Given the description of an element on the screen output the (x, y) to click on. 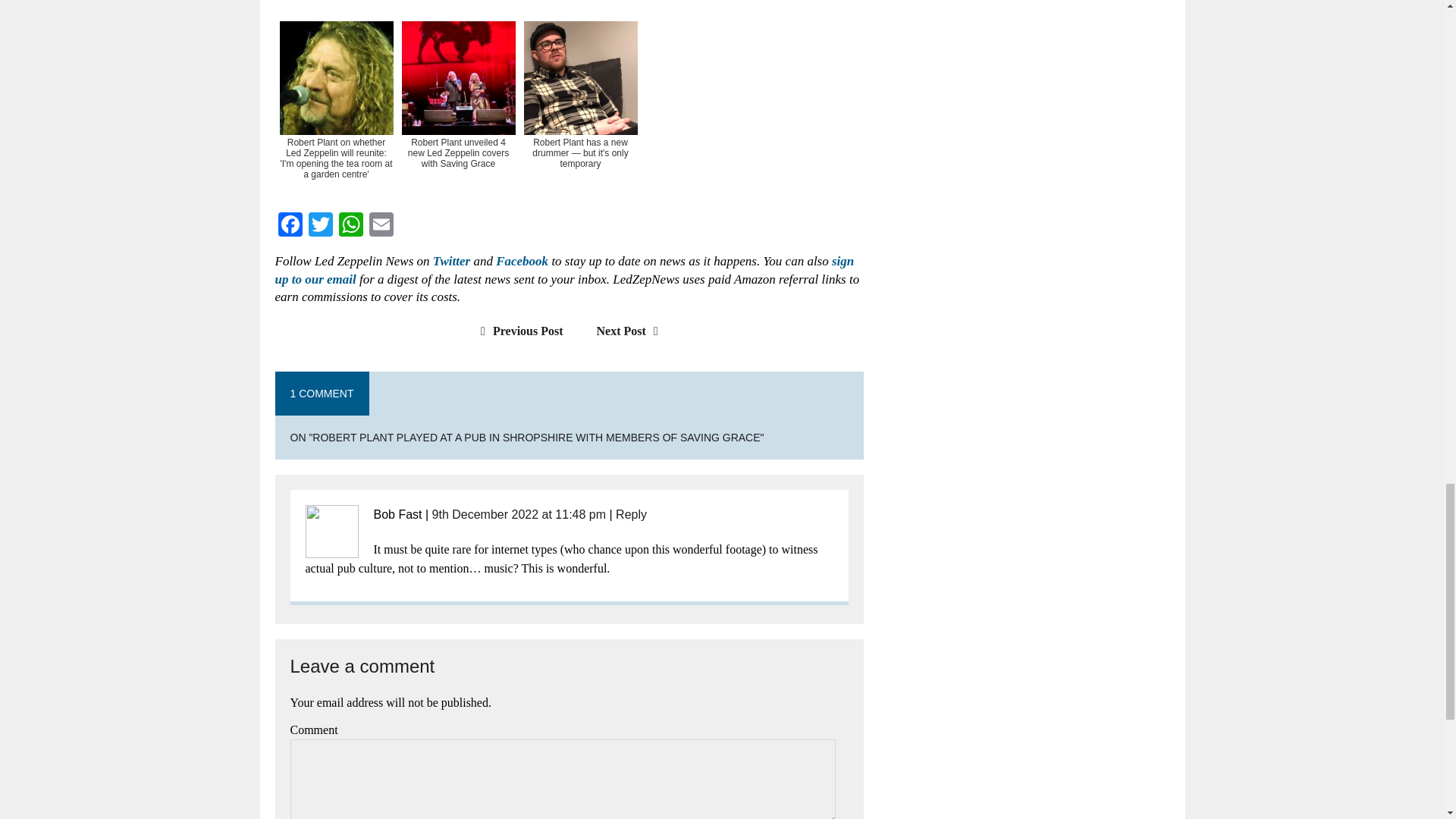
sign up to our email (564, 269)
Next Post (630, 330)
WhatsApp (349, 226)
Twitter (319, 226)
Facebook (522, 260)
Twitter (451, 260)
Facebook (289, 226)
9th December 2022 at 11:48 pm (518, 513)
WhatsApp (349, 226)
Email (380, 226)
Previous Post (517, 330)
Email (380, 226)
Twitter (319, 226)
Reply (630, 513)
Facebook (289, 226)
